Given the description of an element on the screen output the (x, y) to click on. 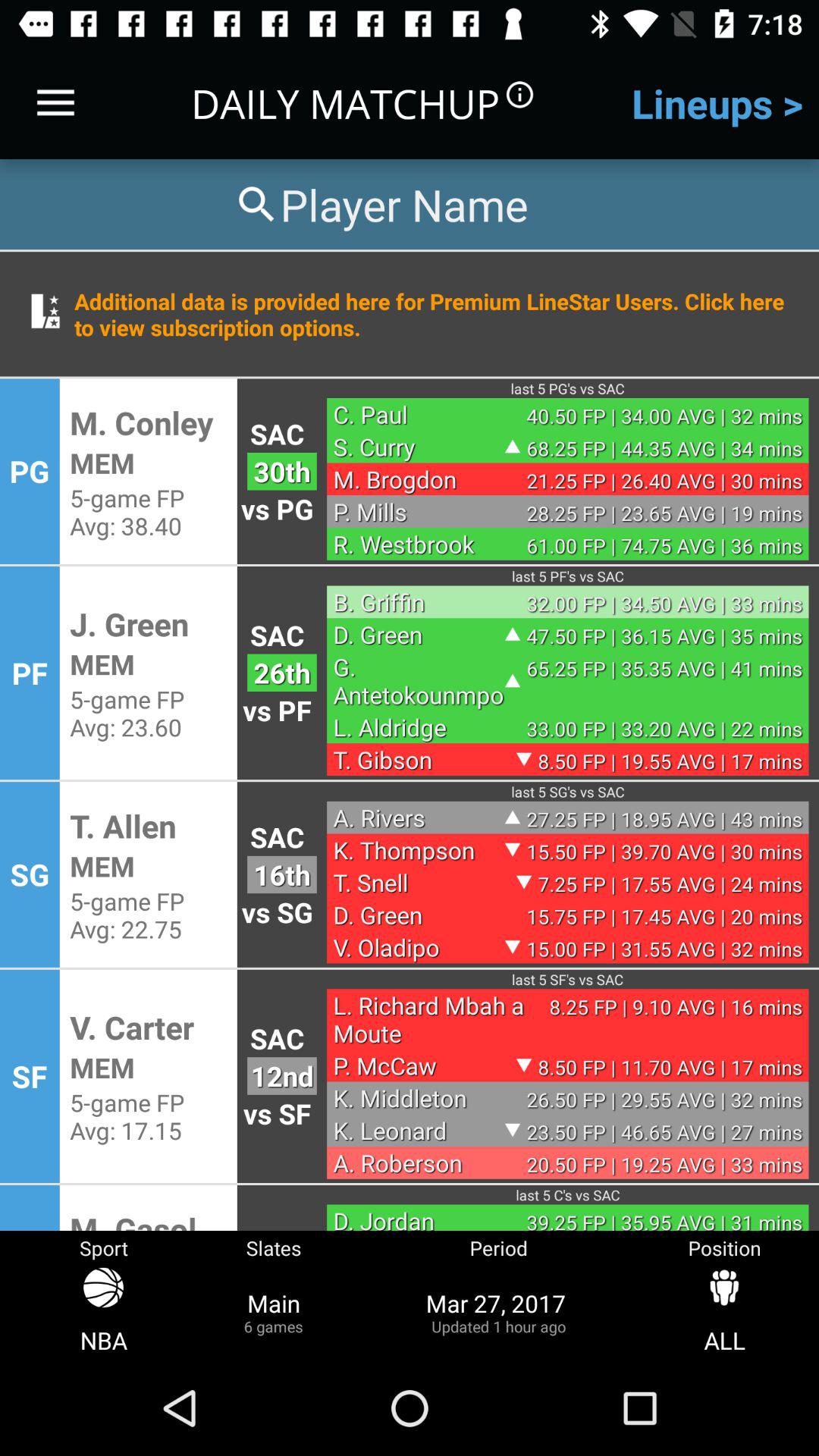
turn on the icon to the right of the sac (418, 414)
